Given the description of an element on the screen output the (x, y) to click on. 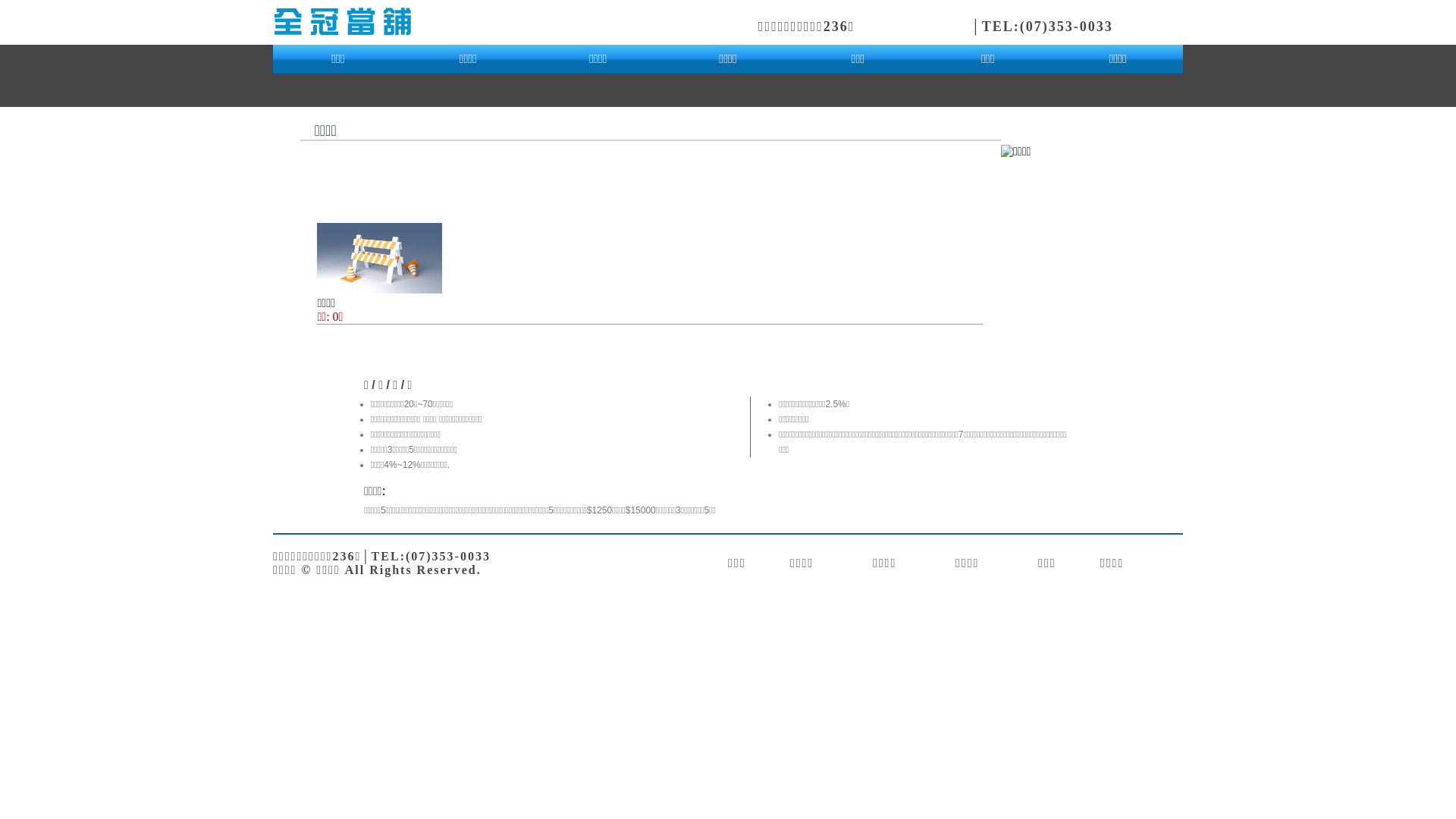
TEL:(07)353-0033 Element type: text (1047, 26)
